Given the description of an element on the screen output the (x, y) to click on. 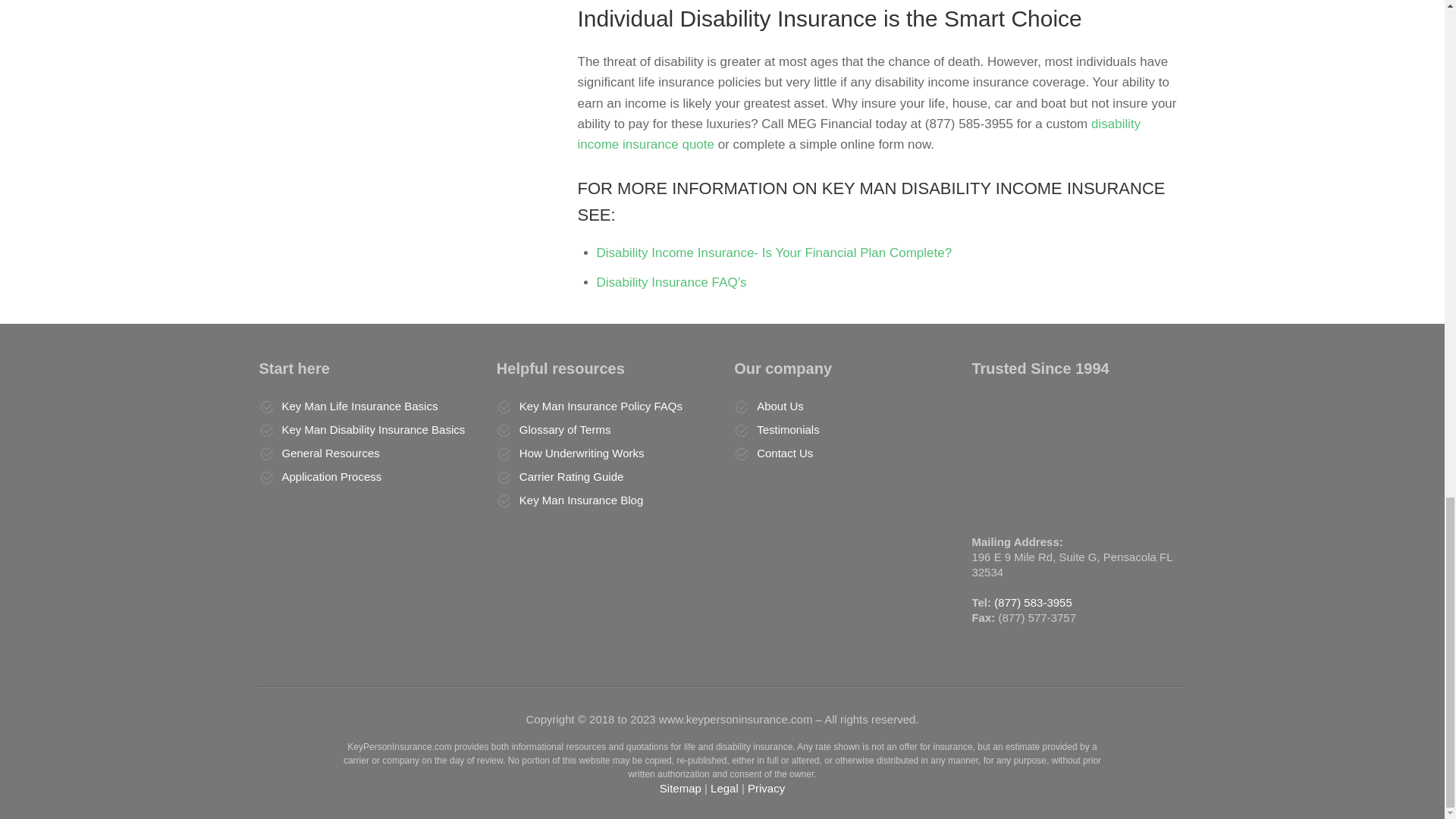
Key Man Life Insurance Basics (360, 405)
Testimonials (788, 429)
Application Process (331, 476)
disability income insurance quote (859, 134)
About Us (780, 405)
How Underwriting Works (582, 452)
Glossary of Terms (565, 429)
Key Man Disability Insurance Basics (373, 429)
Key Man Insurance Blog (581, 499)
Carrier Rating Guide (571, 476)
Key Man Insurance Policy FAQs (600, 405)
General Resources (331, 452)
